Given the description of an element on the screen output the (x, y) to click on. 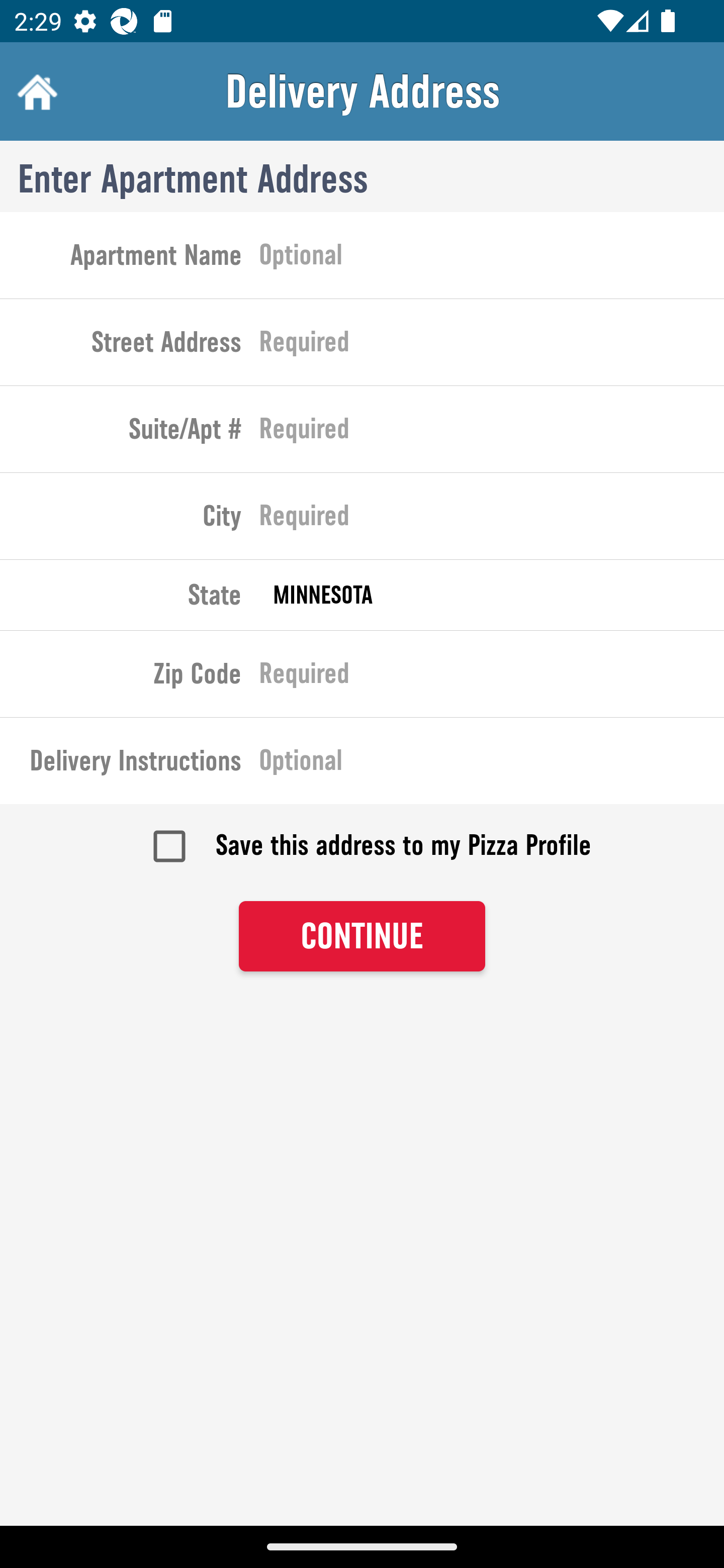
Home (35, 91)
Optional (491, 258)
Required (491, 345)
Required (491, 432)
Required (491, 519)
MINNESOTA (491, 594)
Required (491, 677)
Optional (491, 764)
CONTINUE (361, 936)
